Given the description of an element on the screen output the (x, y) to click on. 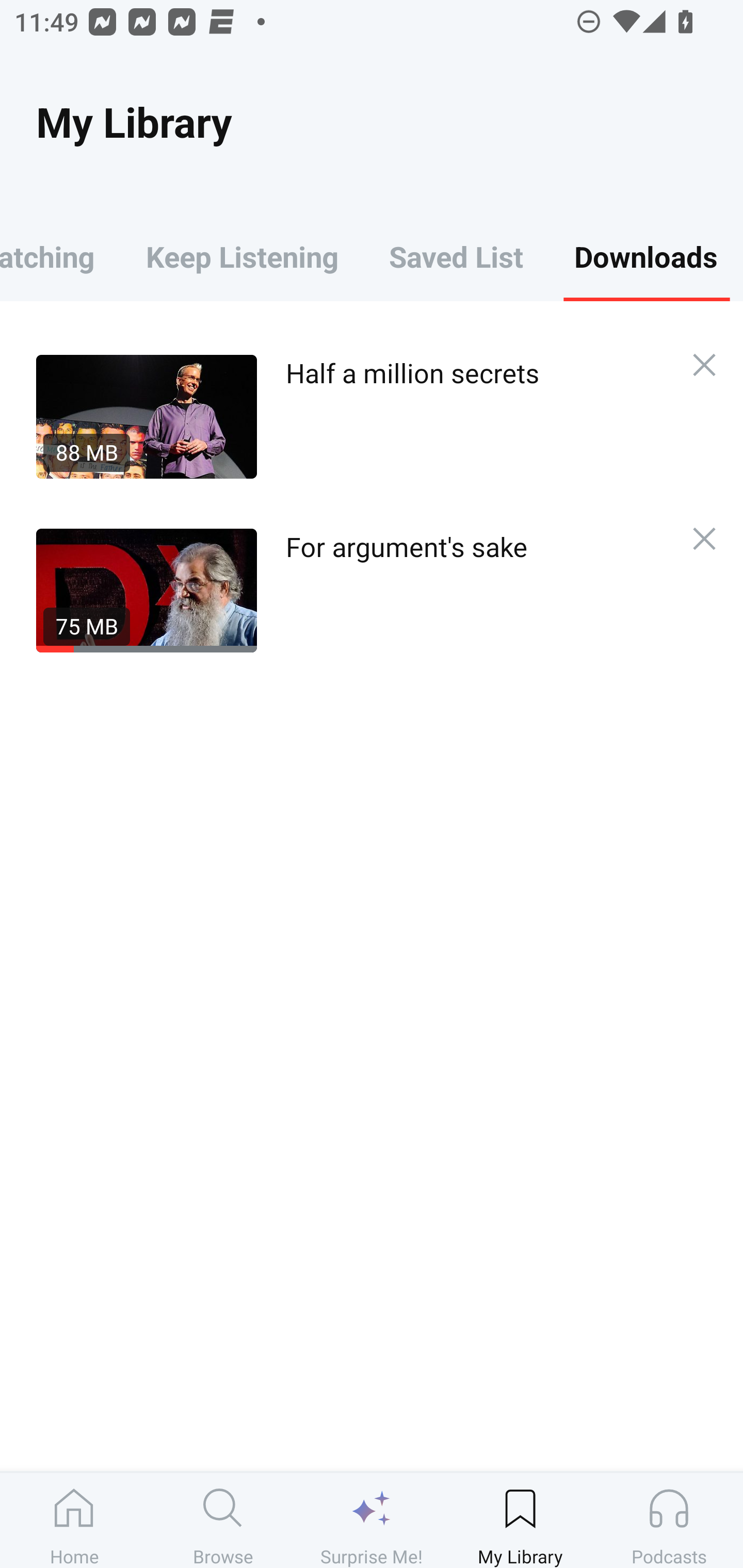
Keep Watching (60, 256)
Keep Listening (242, 256)
Saved List (456, 256)
Downloads (646, 256)
88 MB Half a million secrets (353, 416)
75 MB For argument's sake (353, 590)
Home (74, 1520)
Browse (222, 1520)
Surprise Me! (371, 1520)
My Library (519, 1520)
Podcasts (668, 1520)
